Given the description of an element on the screen output the (x, y) to click on. 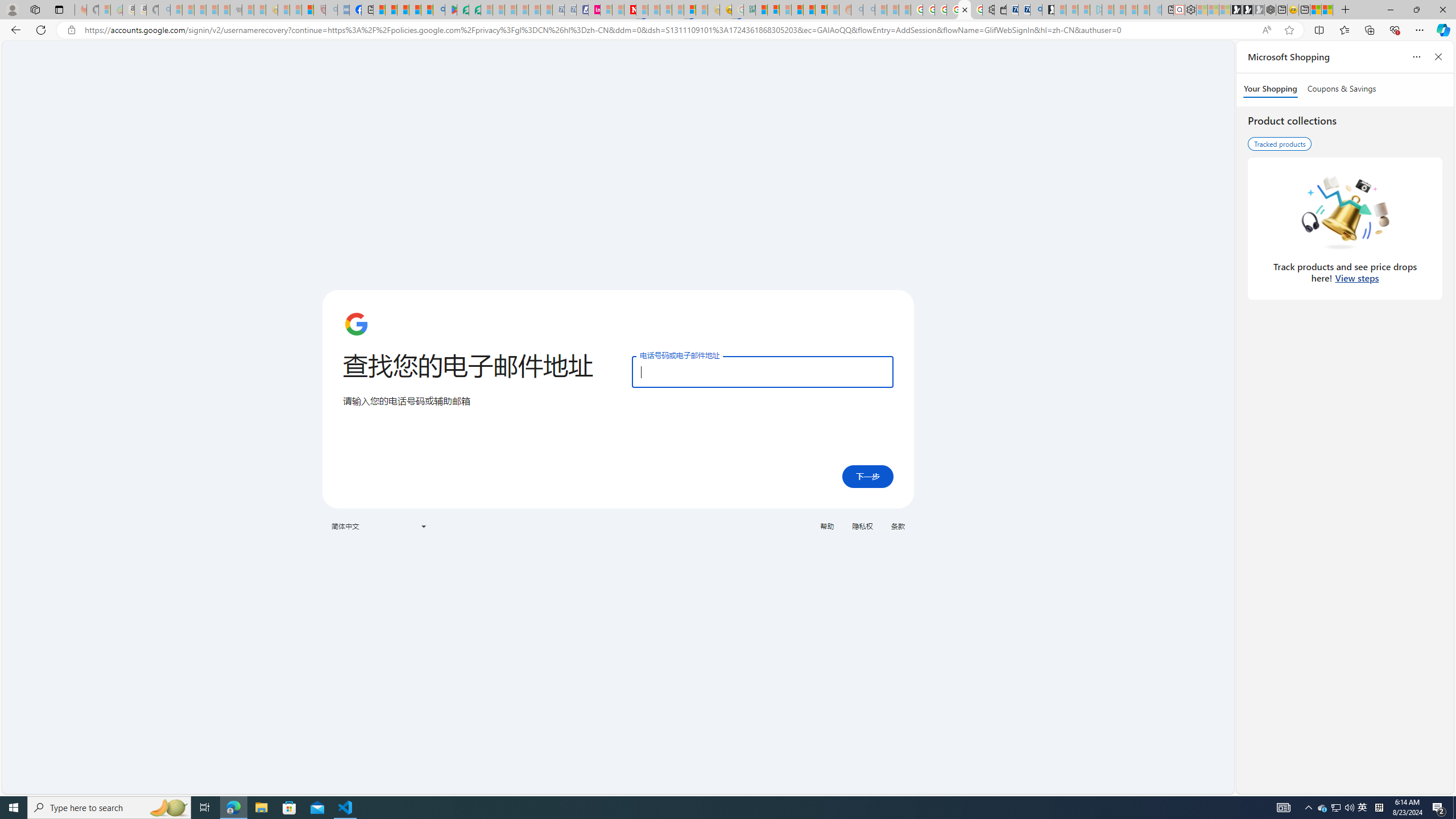
Expert Portfolios (797, 9)
